Given the description of an element on the screen output the (x, y) to click on. 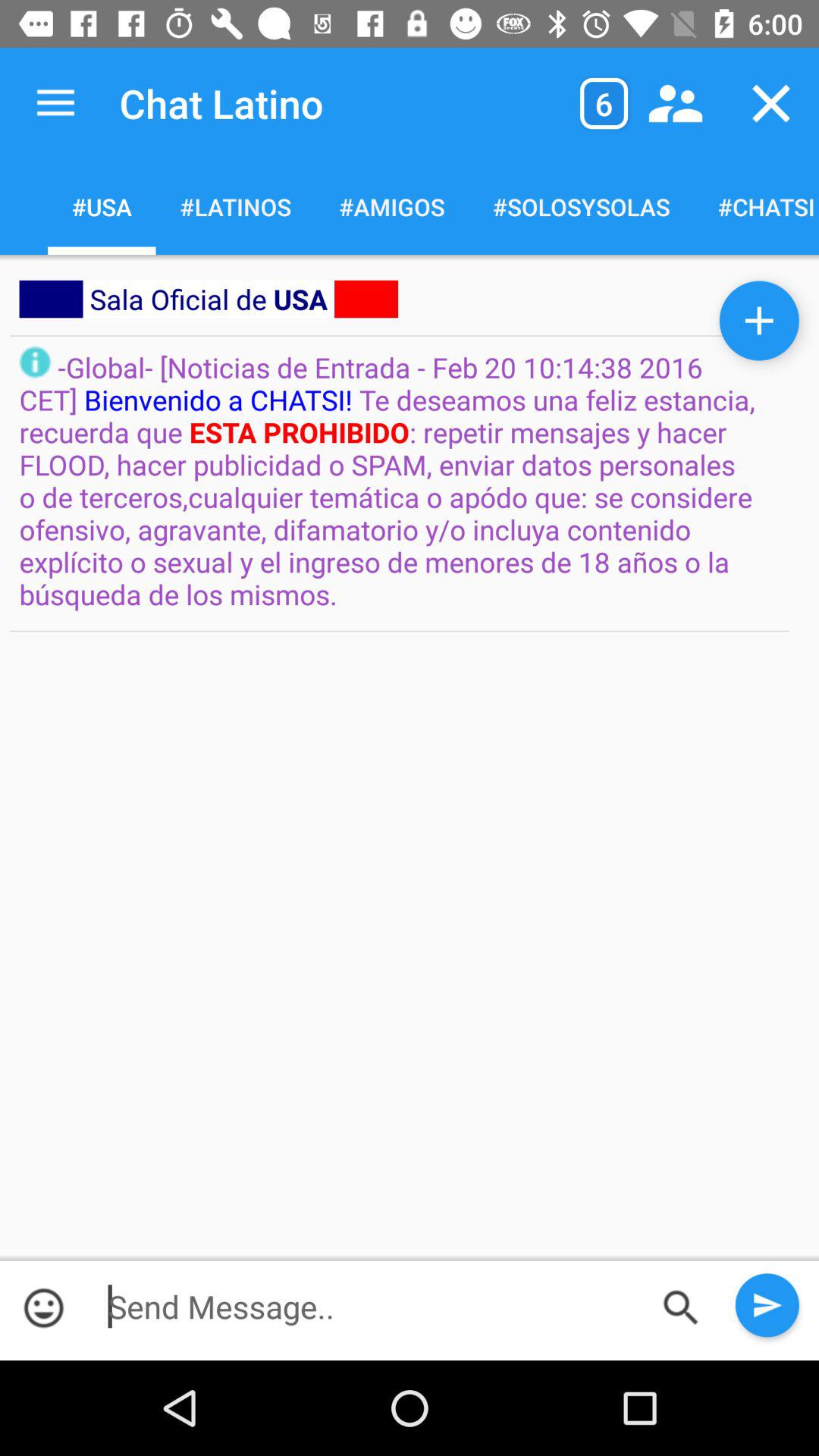
tap the icon to the right of the chat latino icon (603, 103)
